Given the description of an element on the screen output the (x, y) to click on. 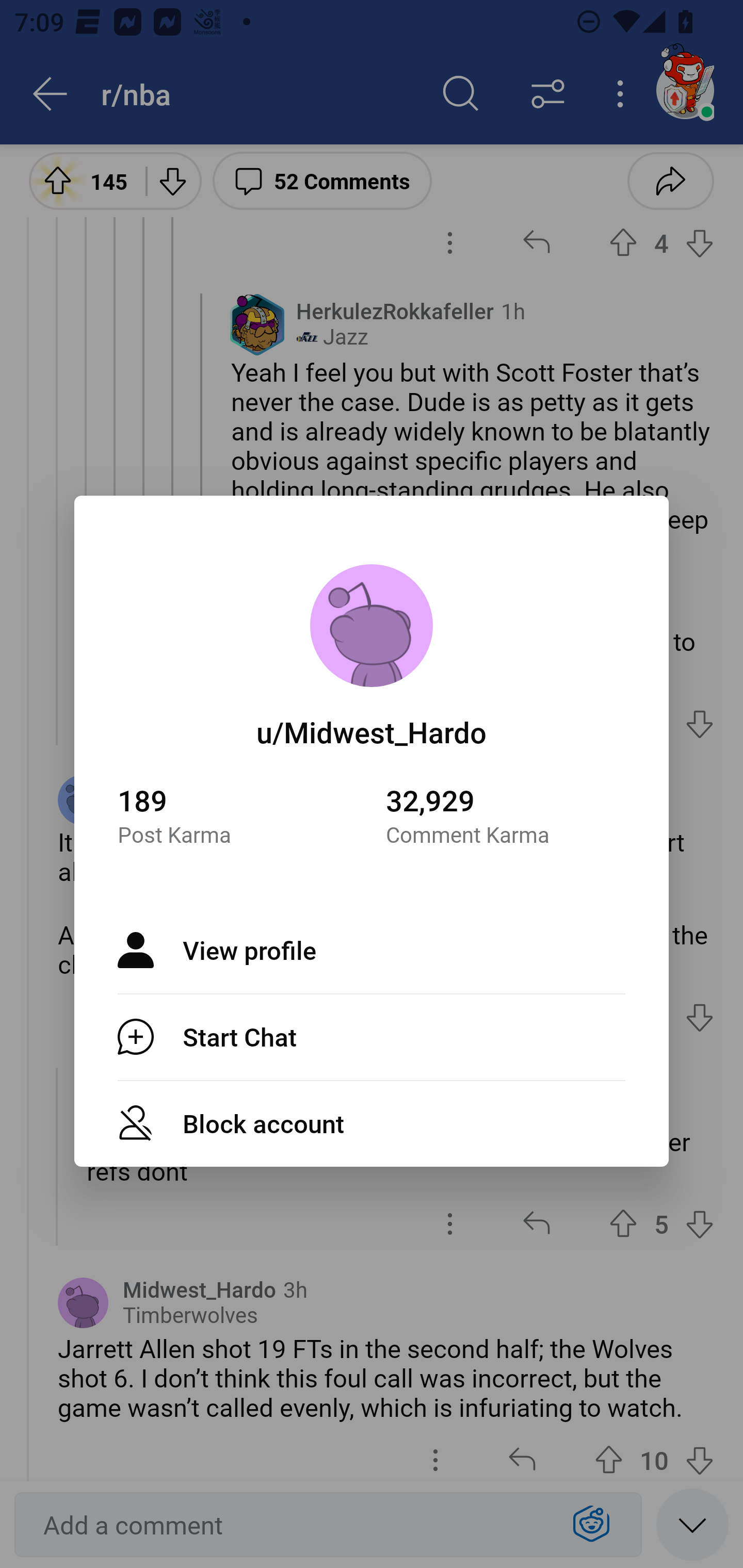
u/Midwest_Hardo (371, 731)
View profile (371, 950)
Start Chat (371, 1037)
Block account (371, 1123)
